Given the description of an element on the screen output the (x, y) to click on. 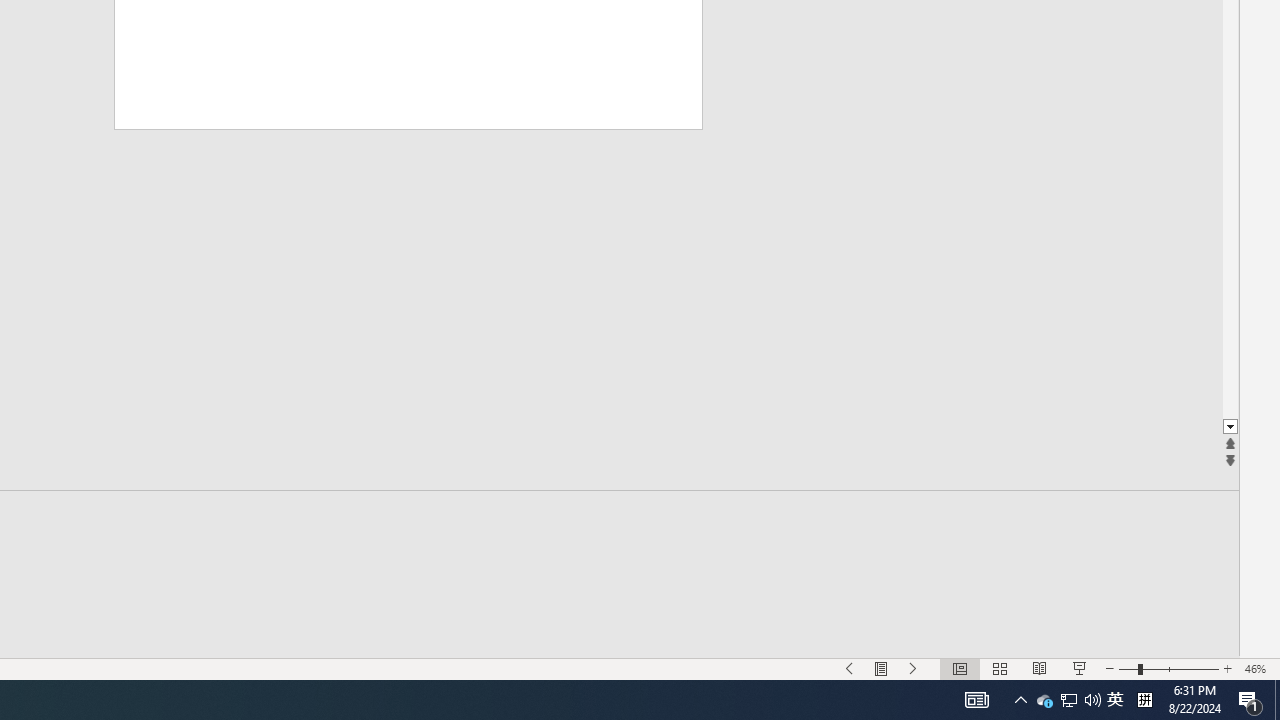
Slide Show Previous On (850, 668)
Menu On (882, 668)
Slide Show Next On (914, 668)
Line down (1230, 427)
Zoom 46% (1258, 668)
